Given the description of an element on the screen output the (x, y) to click on. 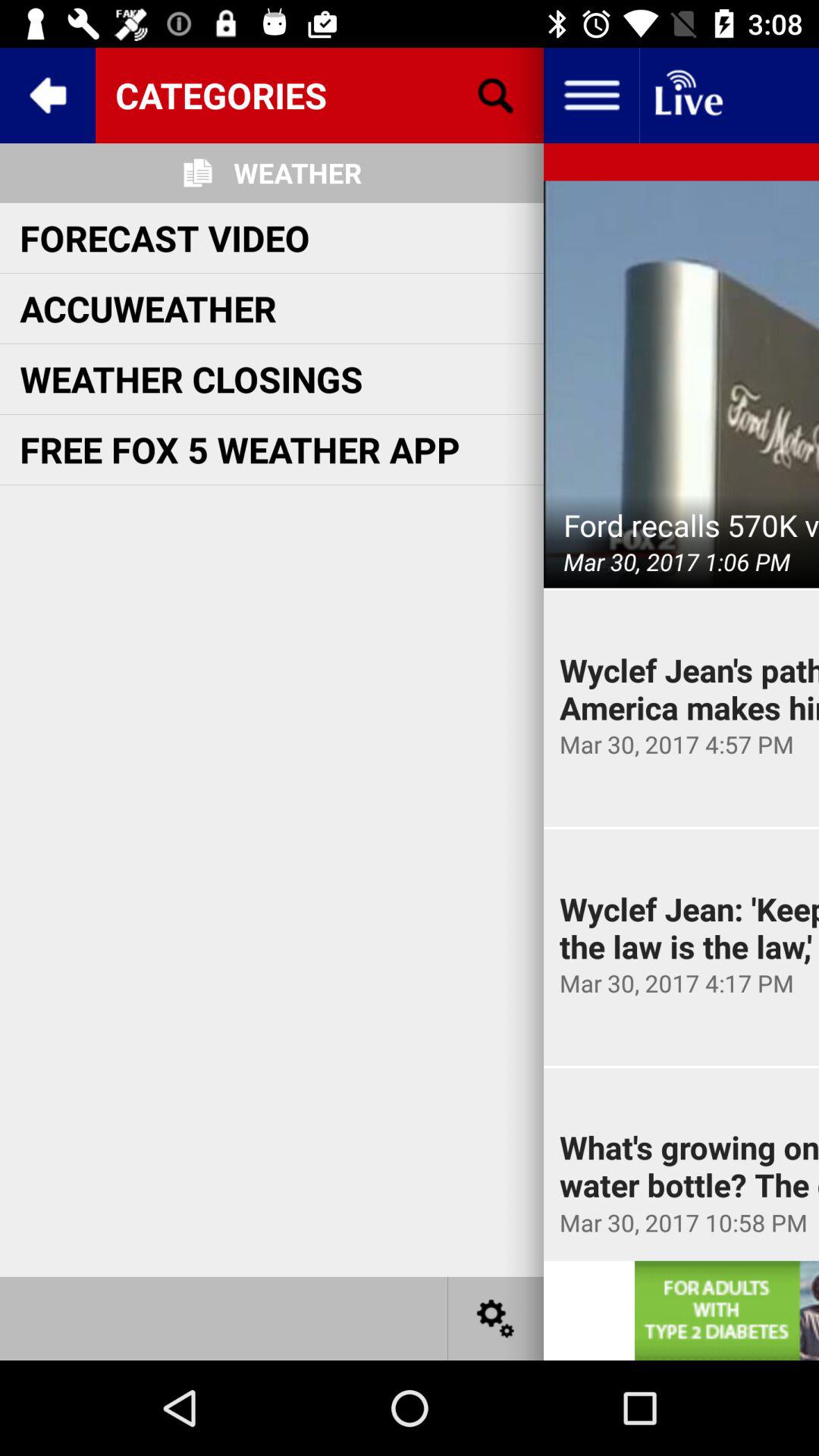
open menu option (591, 95)
